Given the description of an element on the screen output the (x, y) to click on. 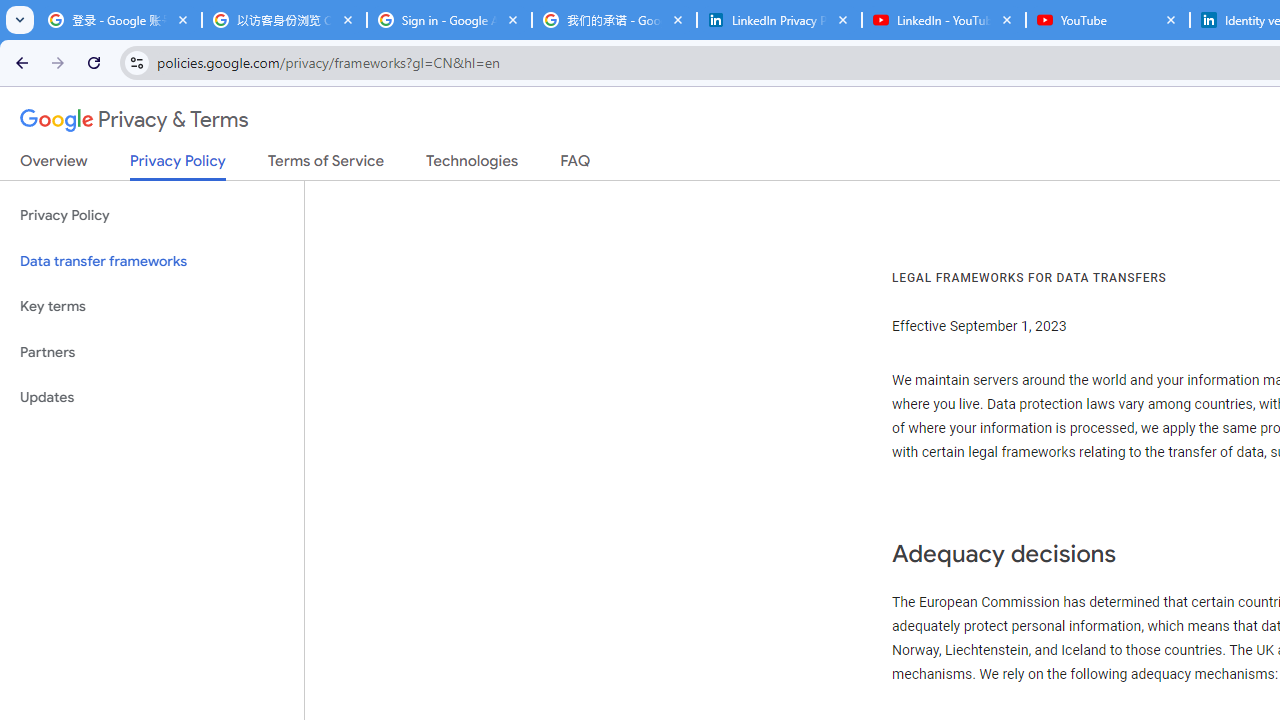
Updates (152, 398)
Privacy Policy (152, 215)
LinkedIn - YouTube (943, 20)
Key terms (152, 306)
LinkedIn Privacy Policy (779, 20)
YouTube (1108, 20)
Technologies (472, 165)
FAQ (575, 165)
